Given the description of an element on the screen output the (x, y) to click on. 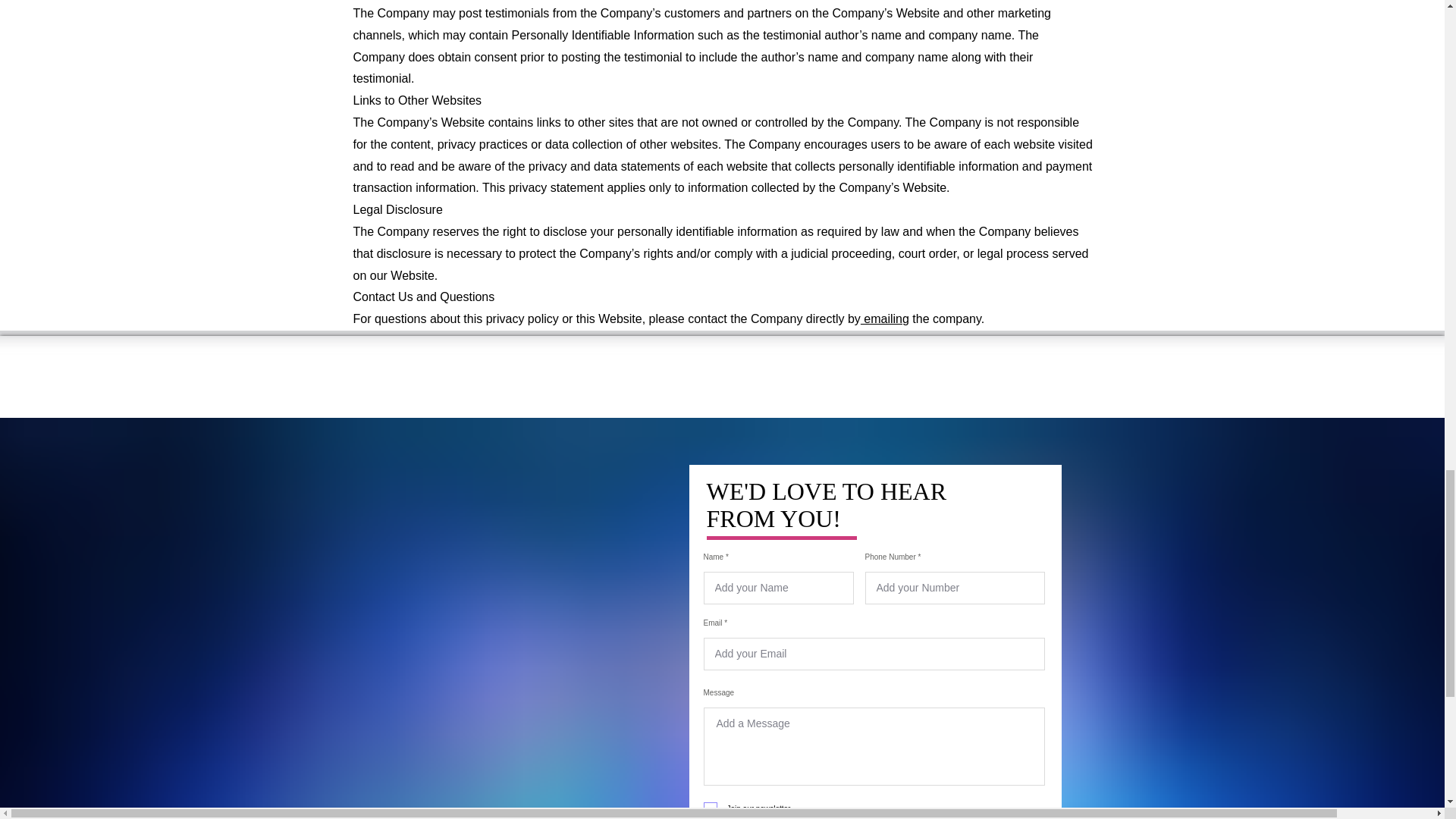
WE'D LOVE TO HEAR FROM YOU! (826, 504)
emailing (884, 318)
SUBMIT (861, 817)
